Given the description of an element on the screen output the (x, y) to click on. 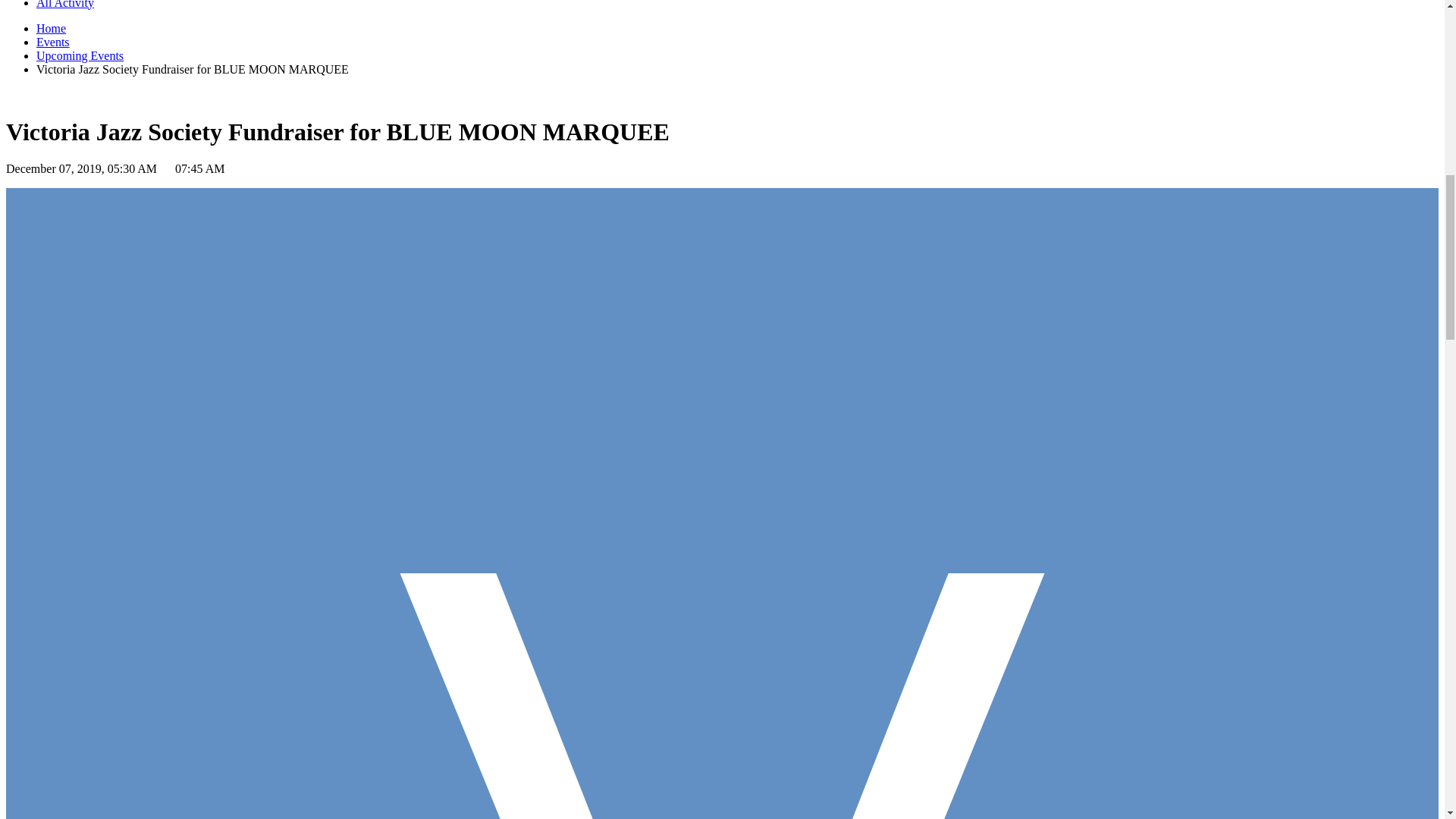
Home (50, 28)
